Given the description of an element on the screen output the (x, y) to click on. 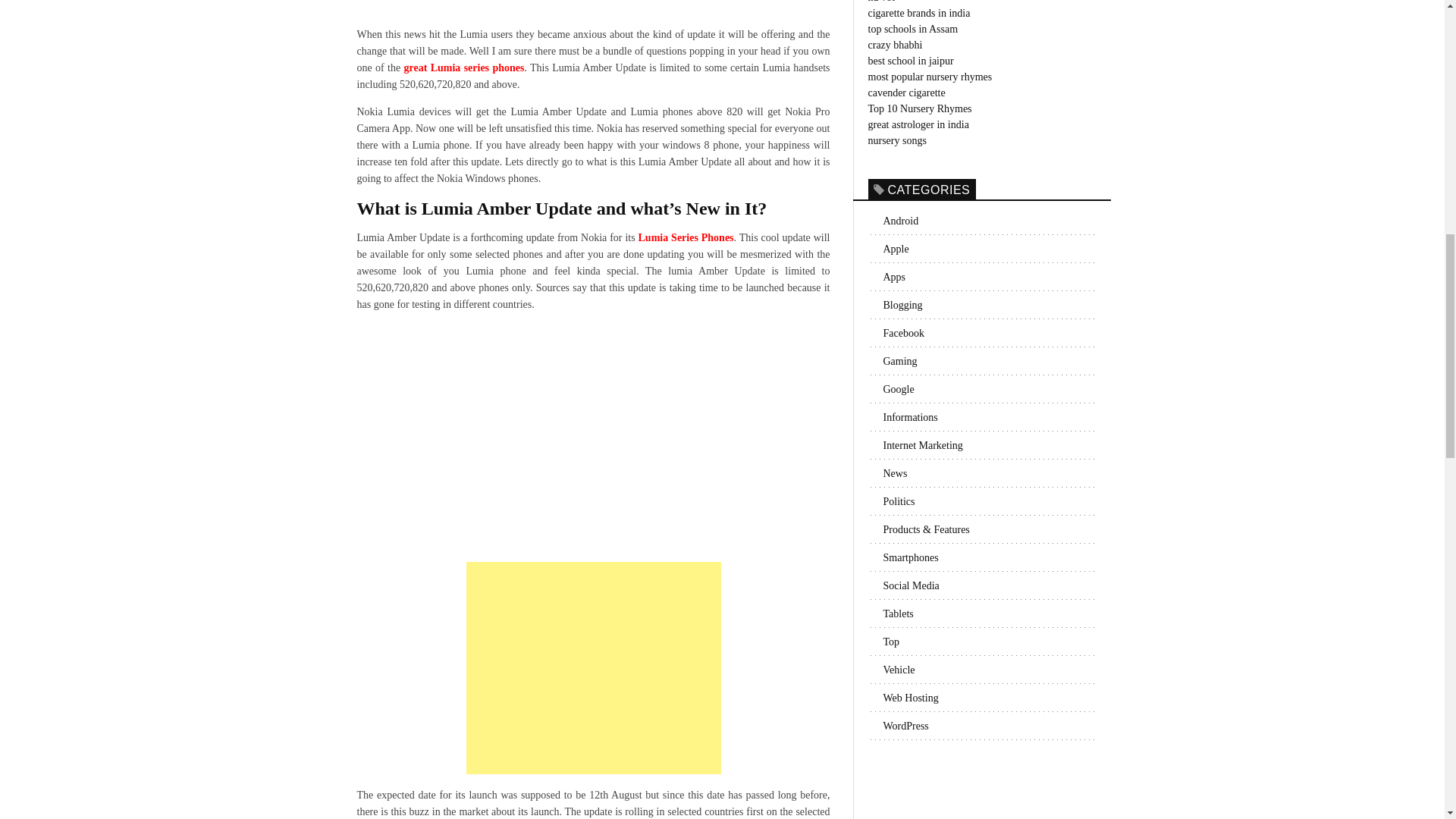
most popular nursery rhymes (929, 76)
crazy bhabhi (894, 44)
nursery songs (896, 140)
top schools in Assam (912, 28)
nu vot (880, 1)
cigarette brands in india (918, 12)
great astrologer in india (917, 123)
crazy bhabhi (894, 44)
cavender cigarette (905, 91)
cavender cigarette (905, 91)
cigarette brands in india (918, 12)
great astrologer in india (917, 123)
top schools in Assam (912, 28)
nursery songs (896, 140)
best school in jaipur (910, 60)
